Given the description of an element on the screen output the (x, y) to click on. 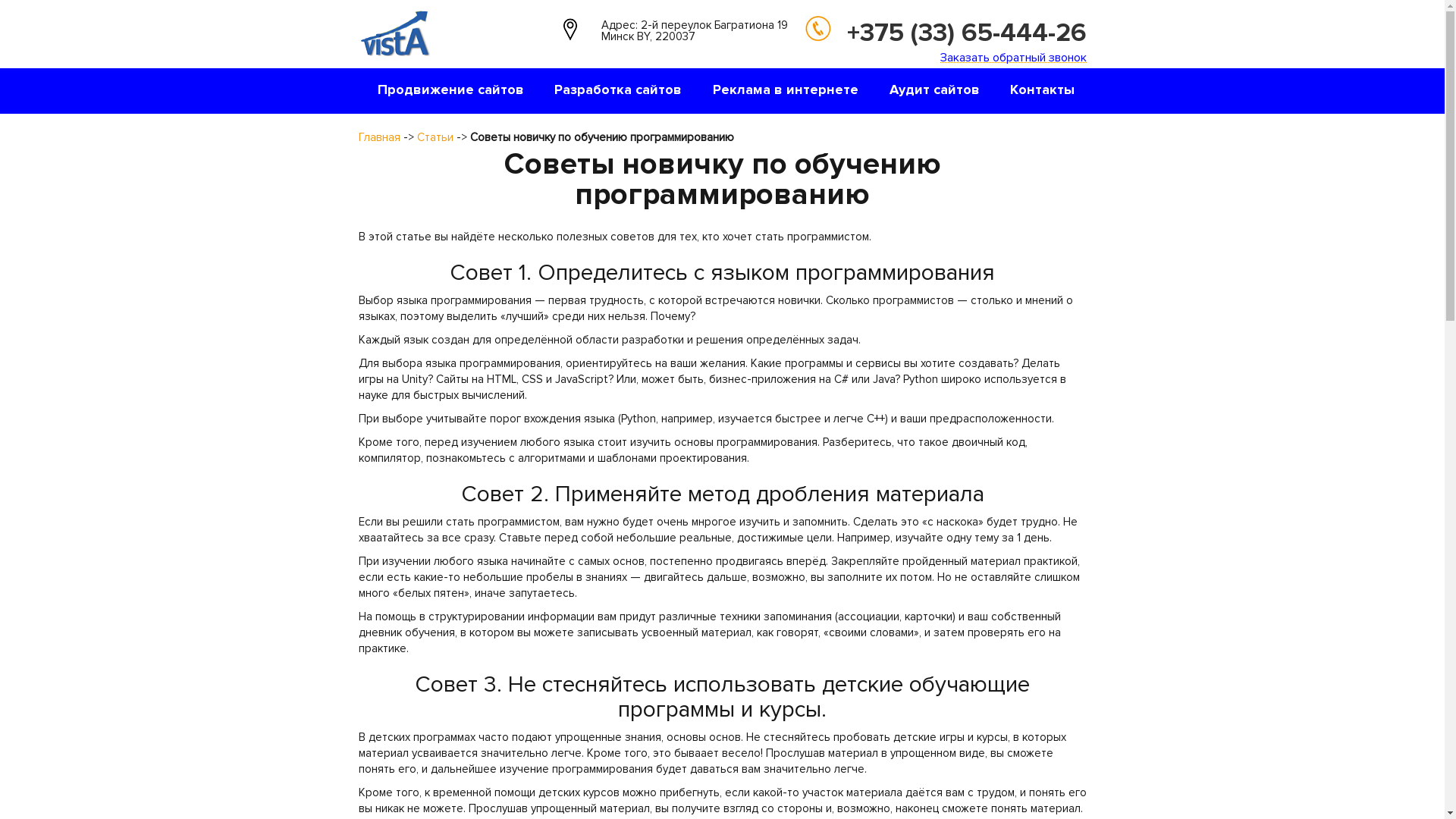
+375 (33) 65-444-26 Element type: text (965, 32)
